Given the description of an element on the screen output the (x, y) to click on. 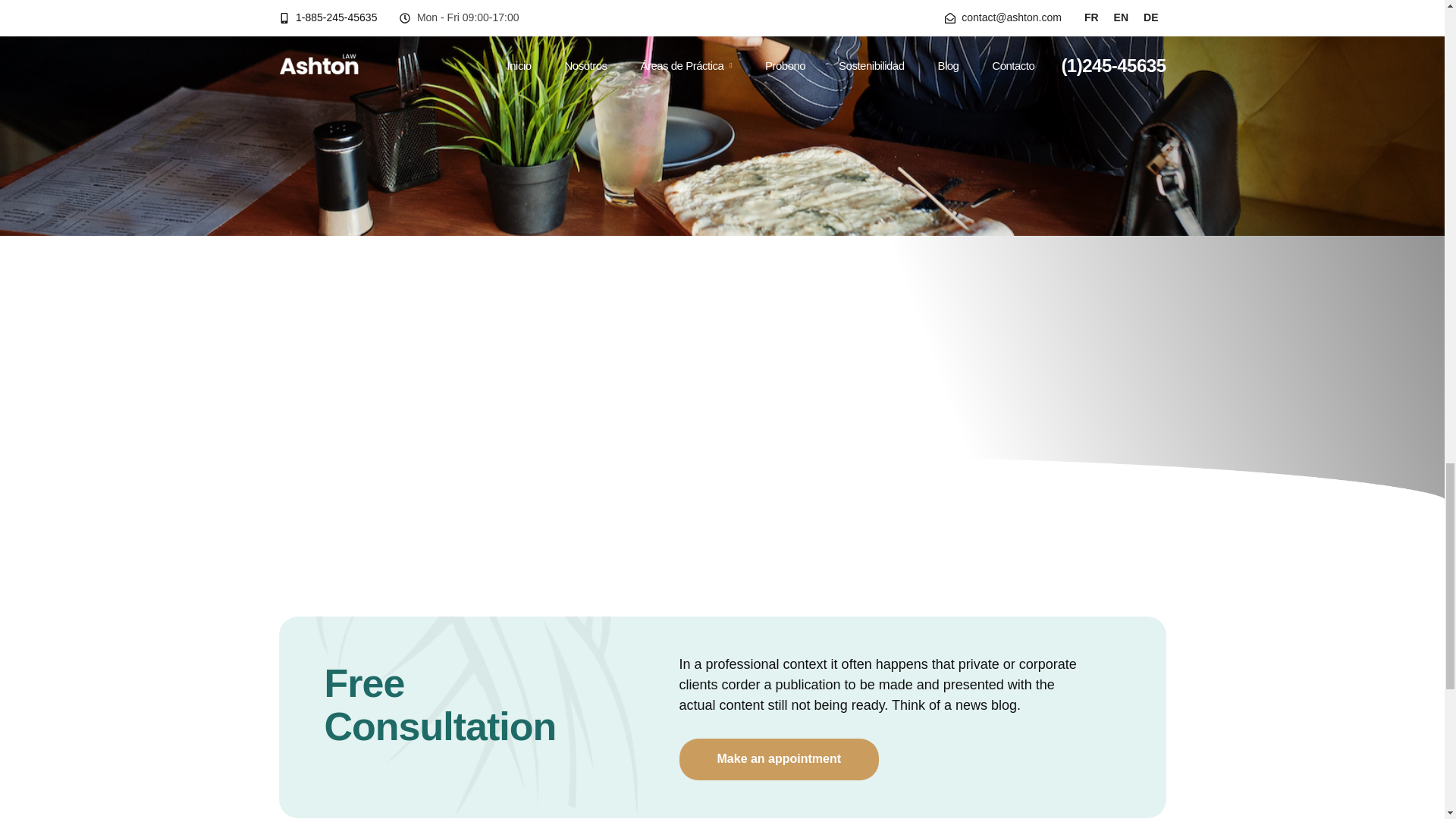
Make an appointment (779, 759)
